Given the description of an element on the screen output the (x, y) to click on. 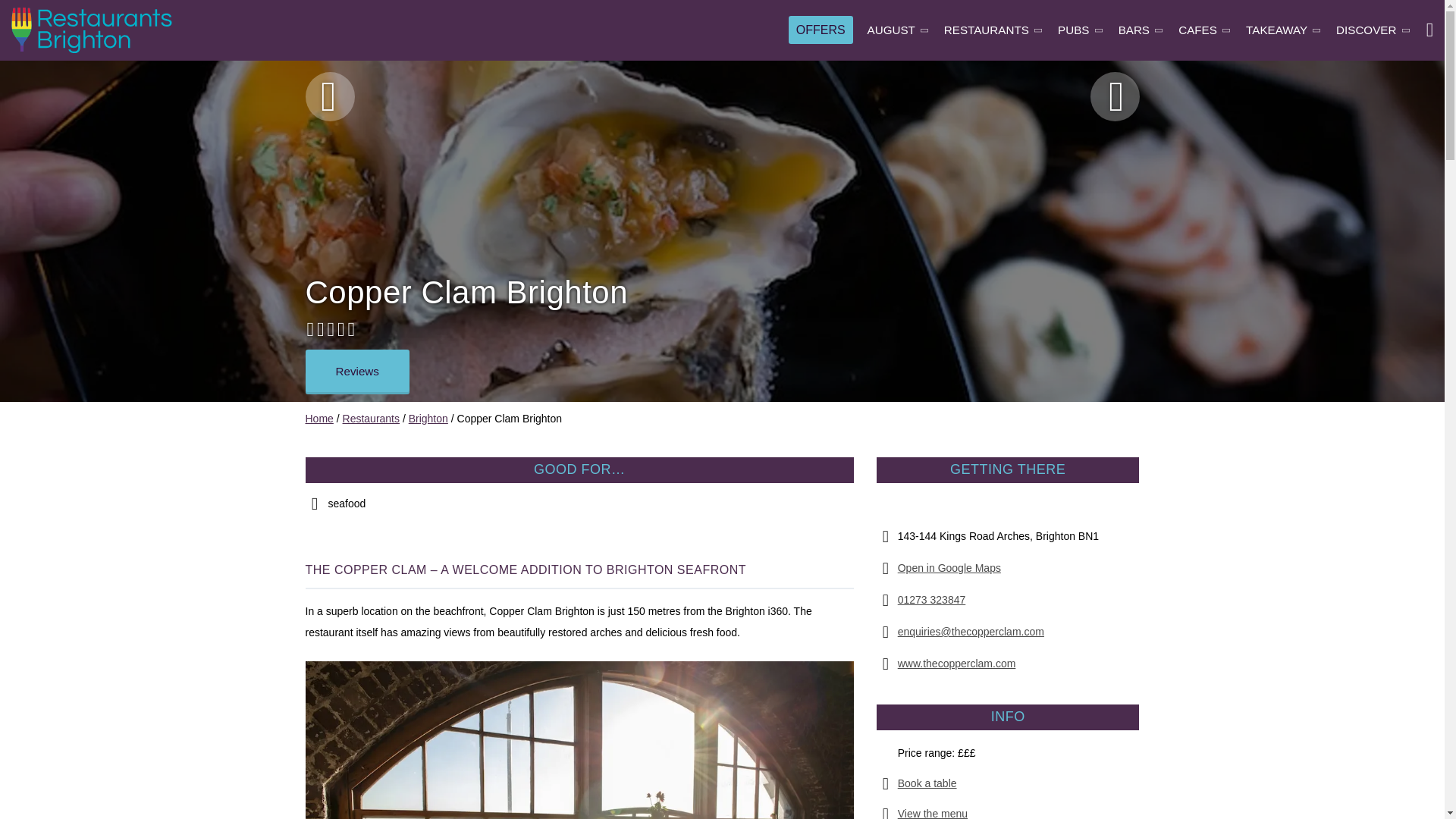
OFFERS (821, 29)
RESTAURANTS (993, 30)
AUGUST (898, 30)
